Given the description of an element on the screen output the (x, y) to click on. 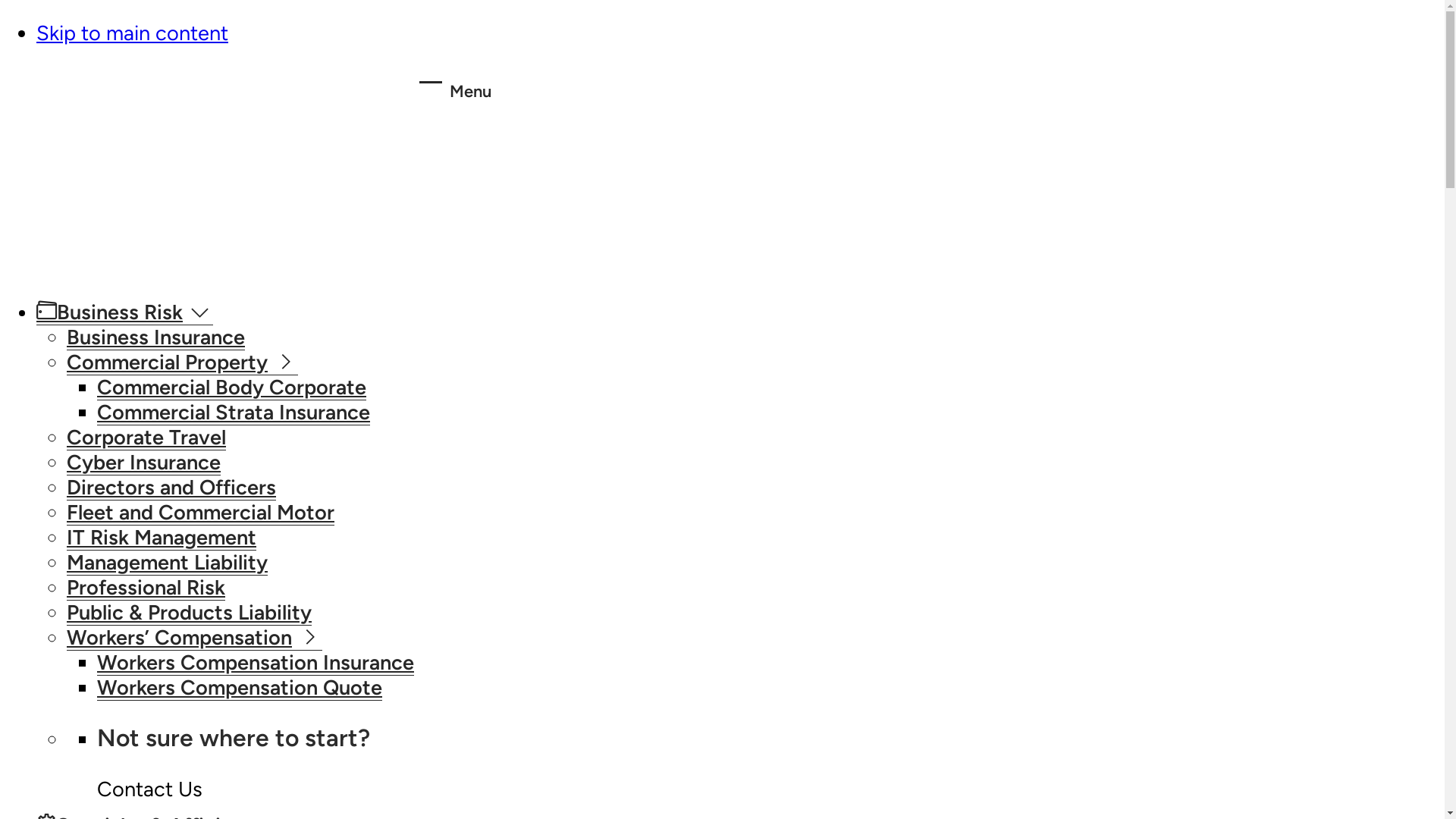
Workers Compensation Quote Element type: text (239, 687)
Business Risk Element type: text (124, 312)
Cyber Insurance Element type: text (143, 462)
Professional Risk Element type: text (145, 587)
Commercial Strata Insurance Element type: text (233, 412)
Public & Products Liability Element type: text (188, 612)
Management Liability Element type: text (166, 562)
Business Insurance Element type: text (155, 337)
IT Risk Management Element type: text (161, 537)
Directors and Officers Element type: text (171, 487)
Workers Compensation Insurance Element type: text (255, 662)
Fleet and Commercial Motor Element type: text (200, 512)
Corporate Travel Element type: text (145, 437)
Skip to main content Element type: text (132, 32)
Commercial Body Corporate Element type: text (231, 387)
Commercial Property Element type: text (182, 362)
